Given the description of an element on the screen output the (x, y) to click on. 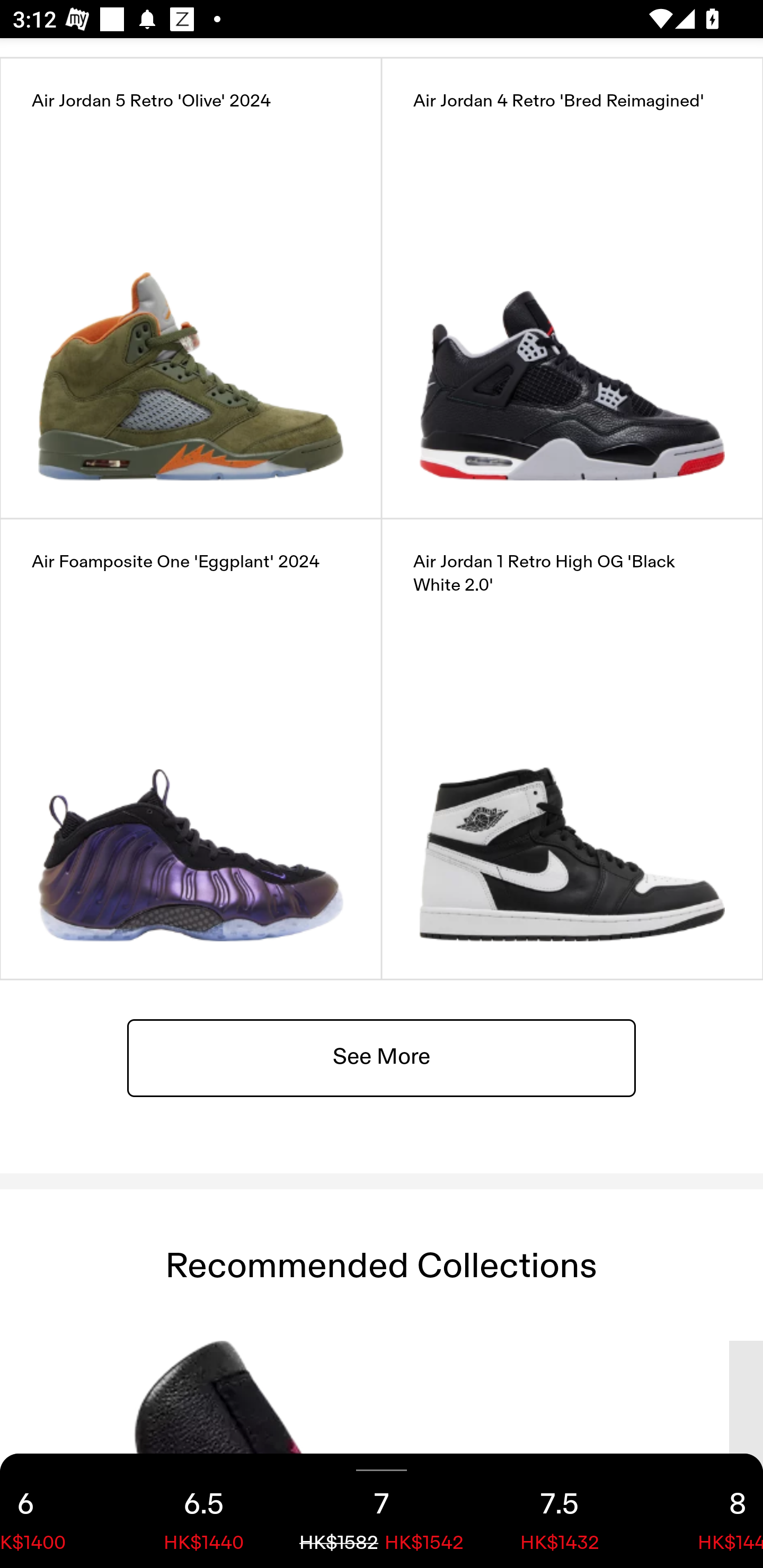
Air Jordan 5 Retro 'Olive' 2024 (190, 288)
Air Jordan 4 Retro 'Bred Reimagined' (572, 288)
Air Foamposite One 'Eggplant' 2024 (190, 749)
Air Jordan 1 Retro High OG 'Black White 2.0' (572, 749)
See More (381, 1057)
6 HK$1400 (57, 1510)
6.5 HK$1440 (203, 1510)
7 HK$1582 HK$1542 (381, 1510)
7.5 HK$1432 (559, 1510)
8 HK$1440 (705, 1510)
